Given the description of an element on the screen output the (x, y) to click on. 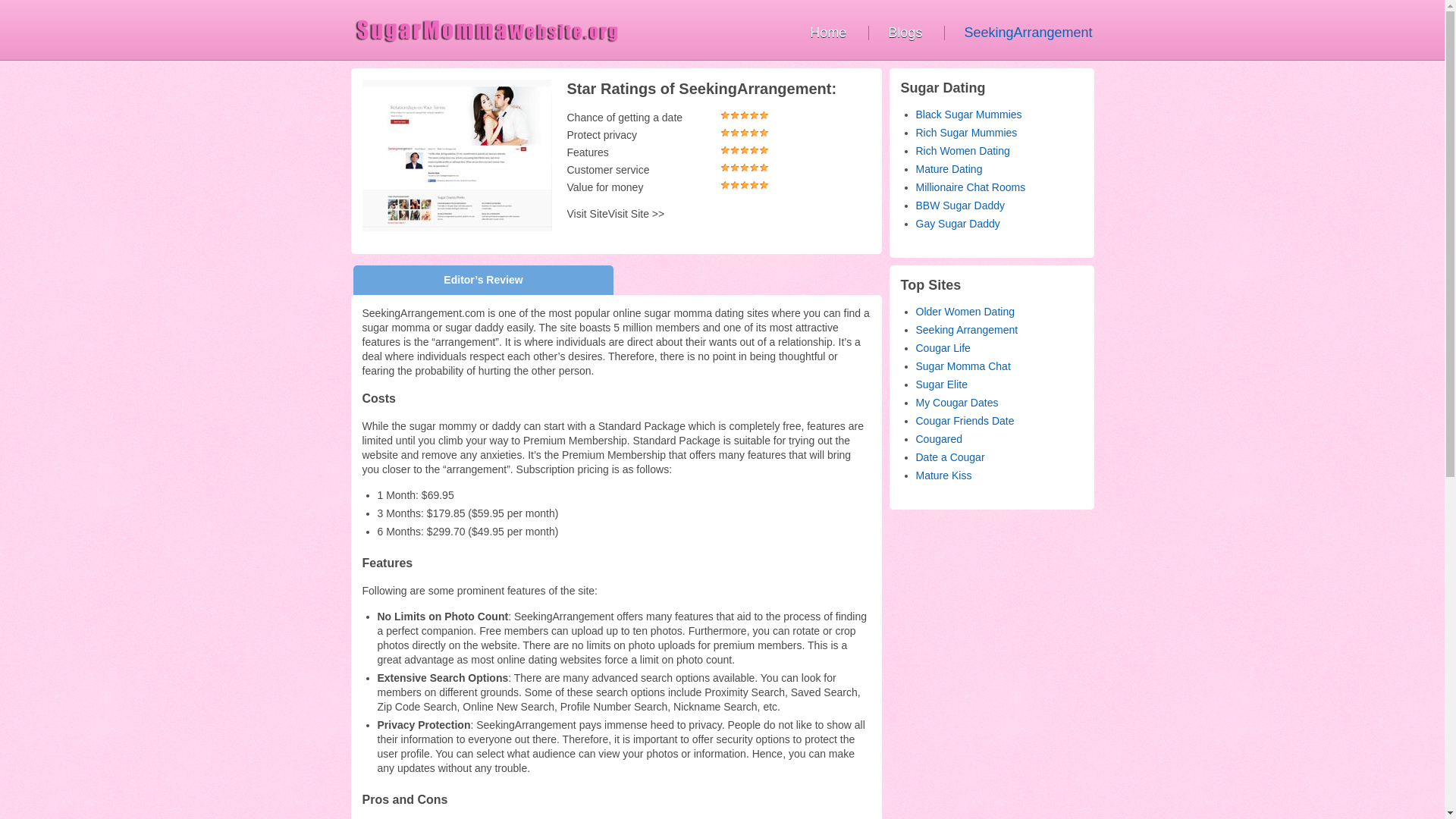
Millionaire Chat Rooms (970, 186)
Seeking Arrangement (966, 329)
My Cougar Dates (956, 402)
Gay Sugar Daddy (957, 223)
Sugar Elite (941, 384)
Cougared (938, 439)
Sugar Momma Chat (962, 366)
Mature Kiss (943, 475)
BBW Sugar Daddy (960, 205)
Mature Dating (948, 168)
